Given the description of an element on the screen output the (x, y) to click on. 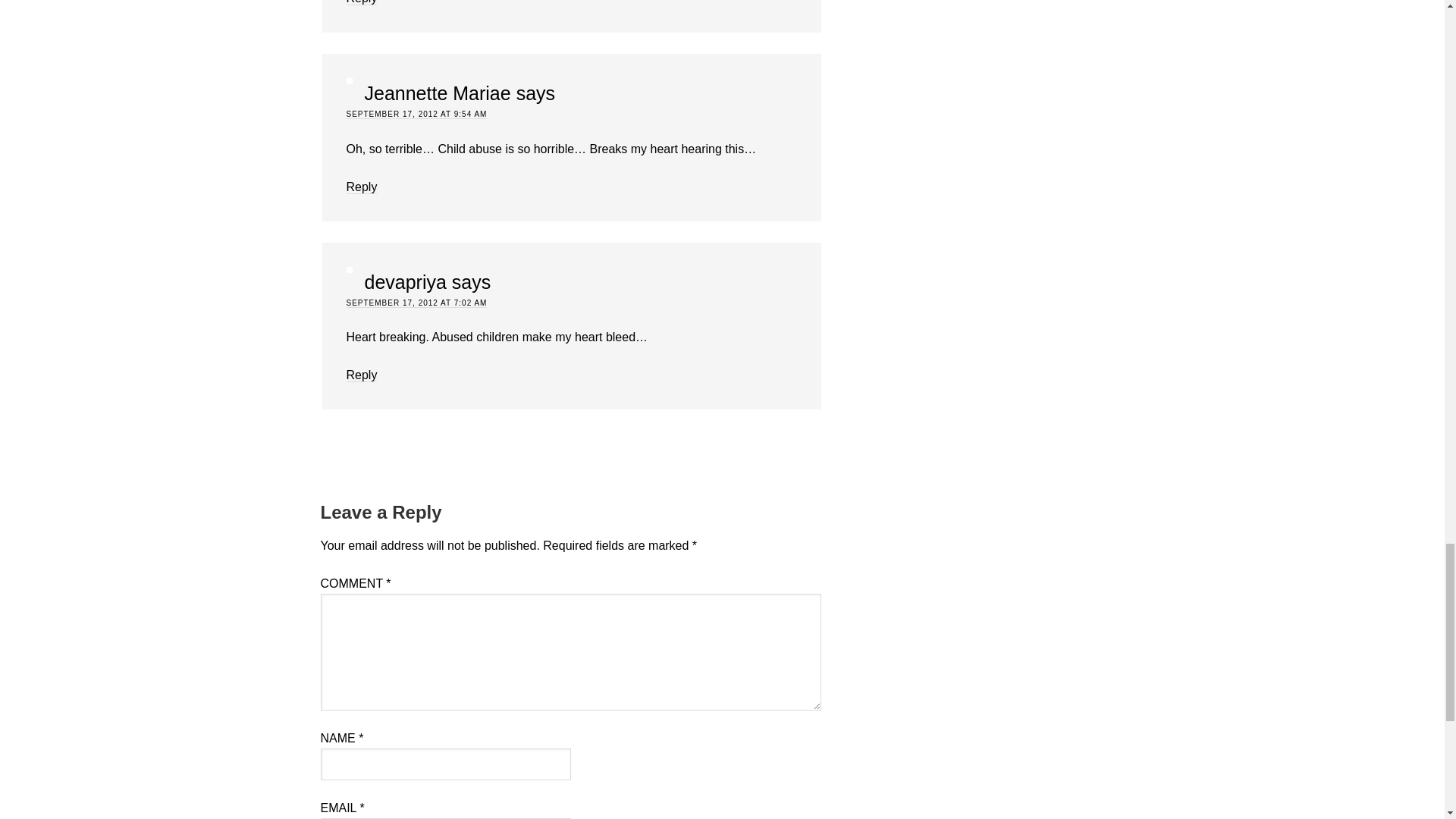
SEPTEMBER 17, 2012 AT 7:02 AM (416, 302)
SEPTEMBER 17, 2012 AT 9:54 AM (416, 113)
Reply (361, 187)
Reply (361, 2)
Reply (361, 375)
